Given the description of an element on the screen output the (x, y) to click on. 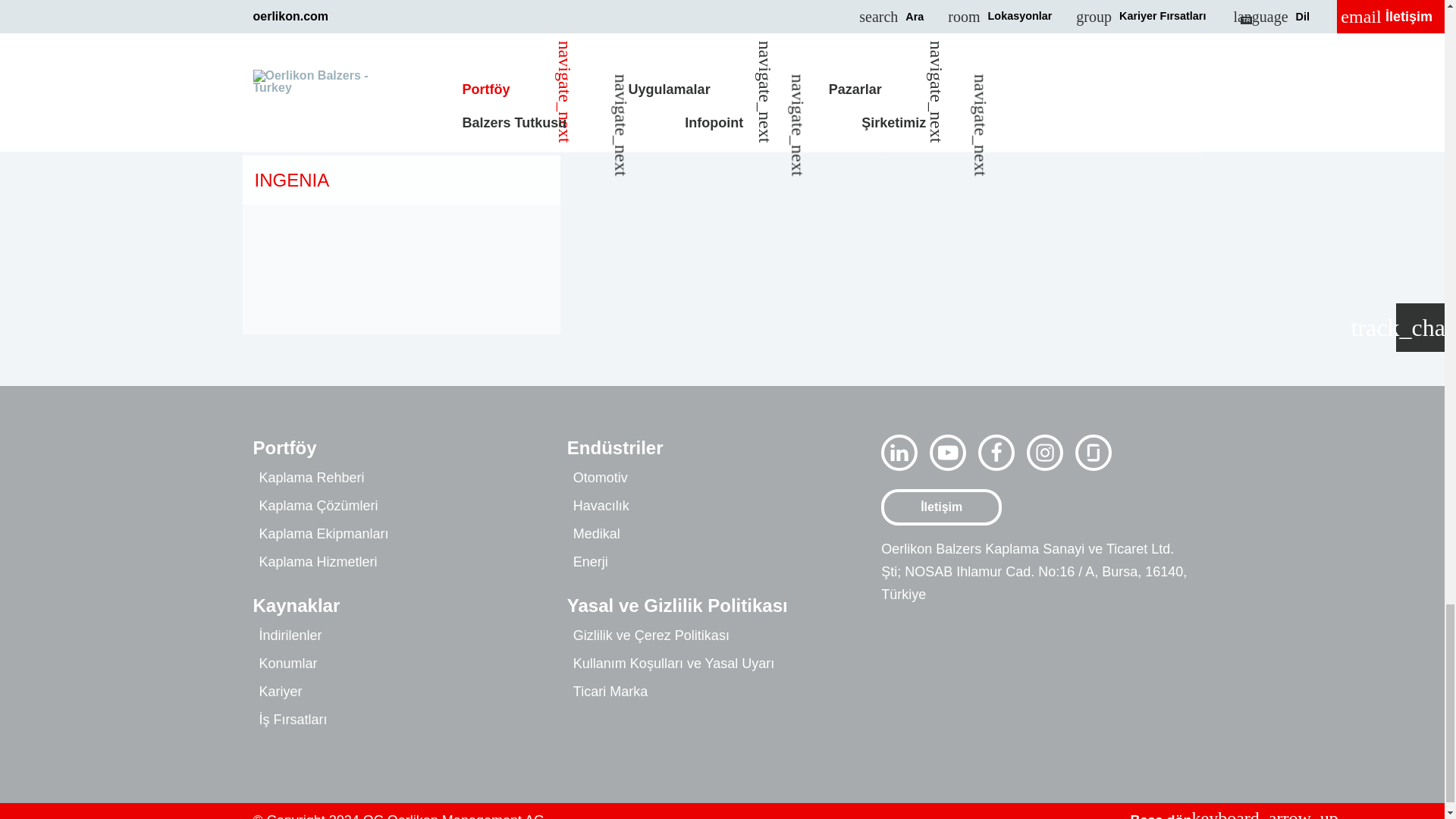
Facebook (996, 452)
Instagram (1044, 452)
LinkedIn (898, 452)
Glassdoor (1093, 452)
YouTube (948, 452)
